Given the description of an element on the screen output the (x, y) to click on. 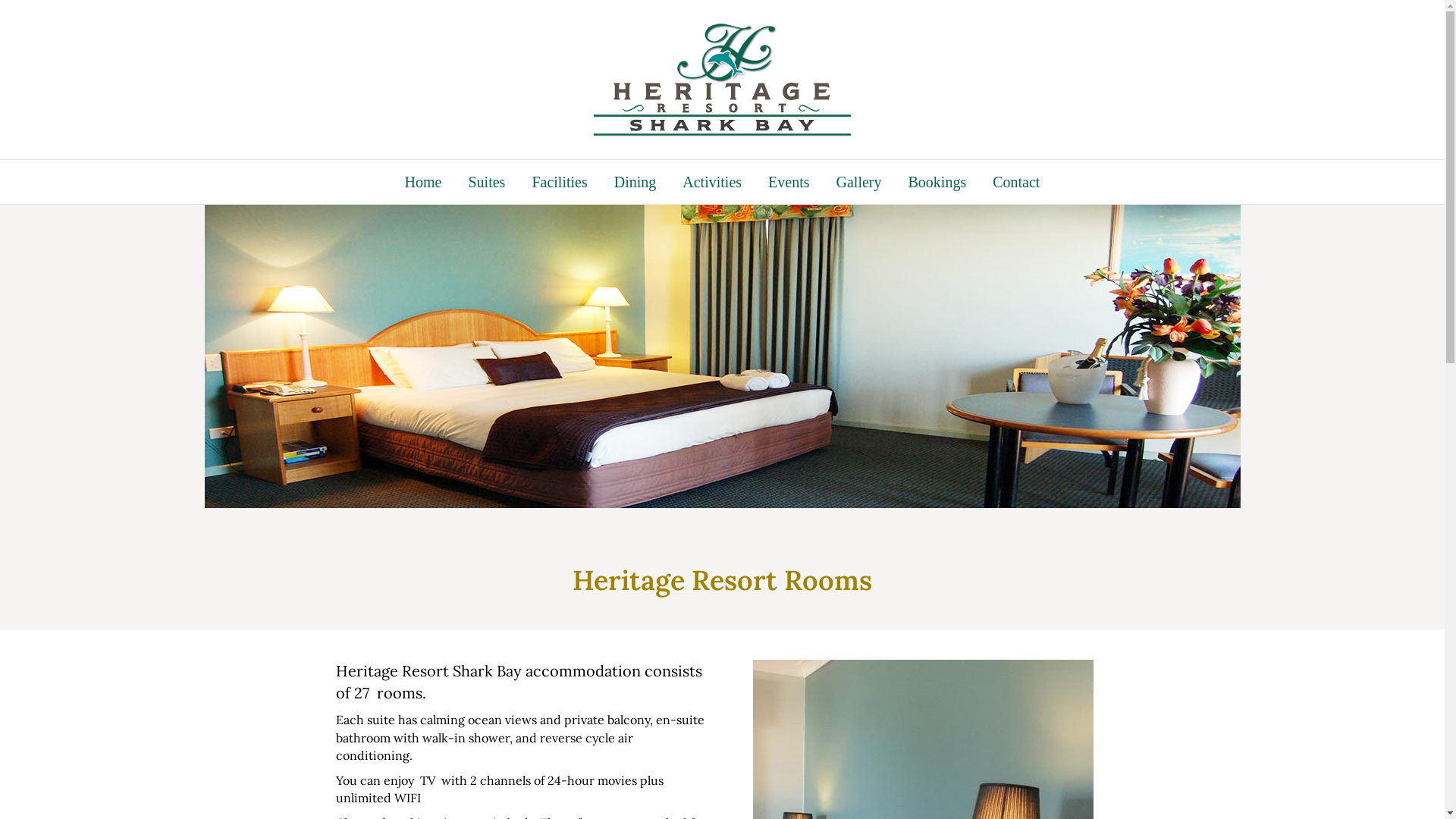
Dining Element type: text (635, 181)
Gallery Element type: text (859, 181)
Facilities Element type: text (559, 181)
Events Element type: text (788, 181)
Activities Element type: text (712, 181)
Wide shot of Heritage Resort luxury suite Element type: hover (722, 356)
Contact Element type: text (1016, 181)
Home Element type: text (423, 181)
Bookings Element type: text (936, 181)
Suites Element type: text (486, 181)
